Given the description of an element on the screen output the (x, y) to click on. 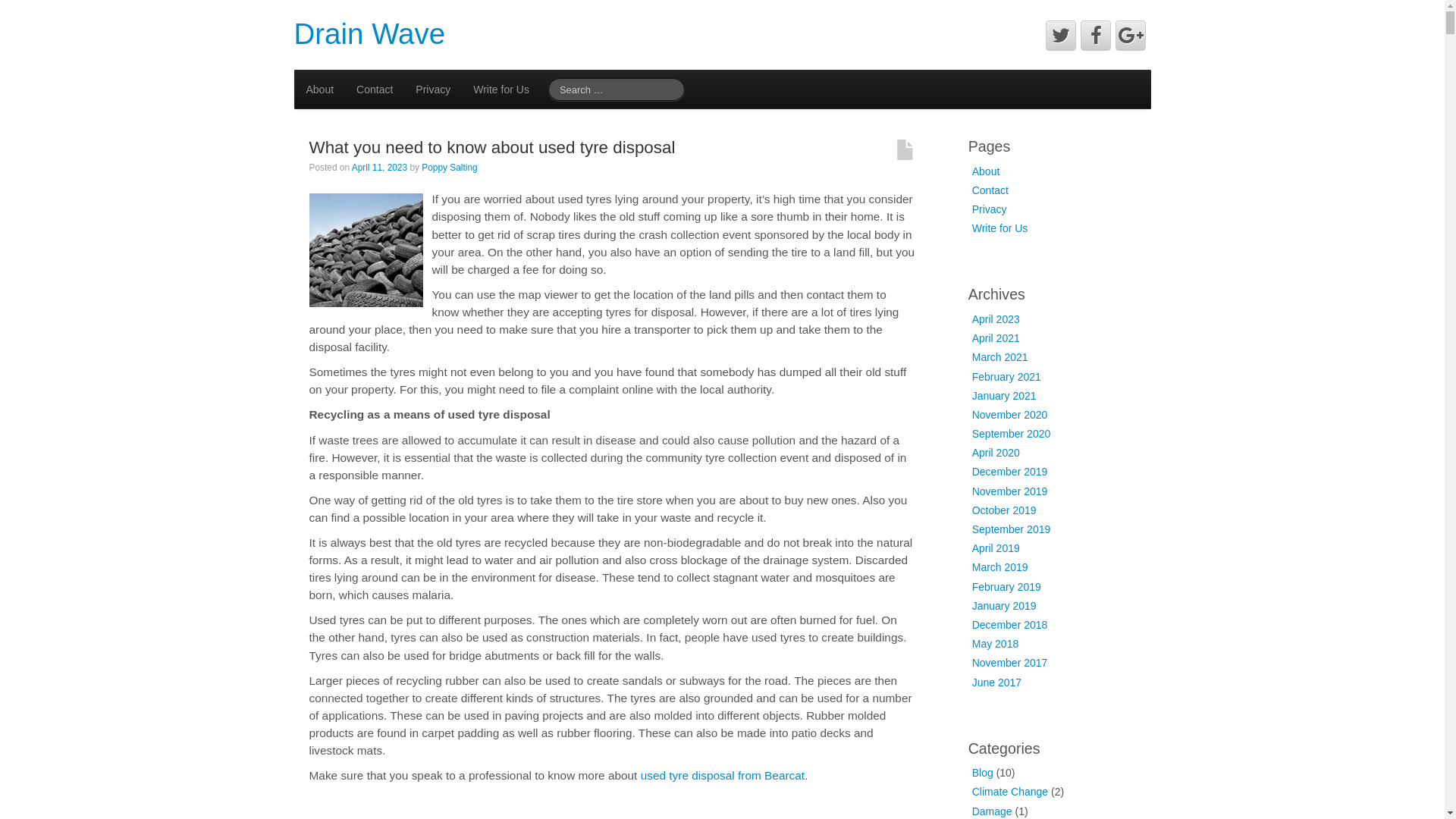
Write for Us Element type: text (1000, 228)
Privacy Element type: text (989, 209)
November 2019 Element type: text (1010, 491)
January 2019 Element type: text (1004, 605)
April 2019 Element type: text (995, 548)
Poppy Salting Element type: text (448, 167)
Contact Element type: text (990, 190)
used tyre disposal from Bearcat Element type: text (722, 774)
February 2021 Element type: text (1006, 376)
Drain Wave Element type: text (369, 33)
September 2020 Element type: text (1011, 433)
June 2017 Element type: text (996, 682)
May 2018 Element type: text (995, 643)
Privacy Element type: text (432, 89)
Damage Element type: text (992, 811)
December 2019 Element type: text (1010, 471)
Write for Us Element type: text (500, 89)
About Element type: text (319, 89)
October 2019 Element type: text (1004, 510)
April 2023 Element type: text (995, 319)
September 2019 Element type: text (1011, 529)
January 2021 Element type: text (1004, 395)
Contact Element type: text (374, 89)
April 2020 Element type: text (995, 452)
March 2019 Element type: text (1000, 567)
Permalink to What you need to know about used tyre disposal Element type: hover (366, 249)
April 2021 Element type: text (995, 338)
Drain Wave Twitter Element type: hover (1060, 35)
March 2021 Element type: text (1000, 357)
What you need to know about used tyre disposal Element type: text (492, 147)
Drain Wave Googleplus Element type: hover (1130, 35)
Climate Change Element type: text (1010, 791)
Blog Element type: text (982, 772)
About Element type: text (986, 171)
November 2020 Element type: text (1010, 414)
December 2018 Element type: text (1010, 624)
Drain Wave Facebook Element type: hover (1095, 35)
April 11, 2023 Element type: text (380, 167)
November 2017 Element type: text (1010, 662)
February 2019 Element type: text (1006, 586)
